Given the description of an element on the screen output the (x, y) to click on. 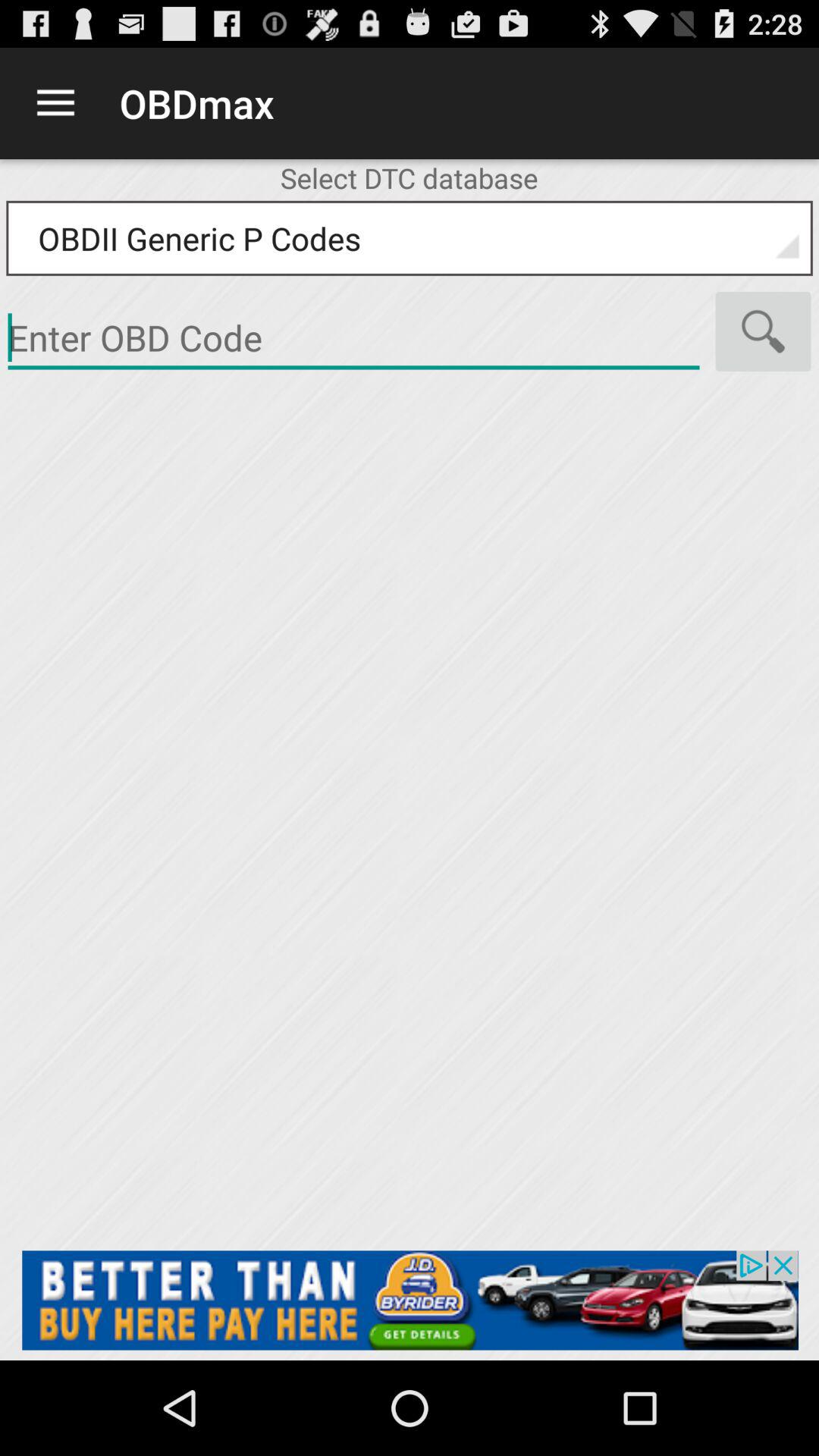
enter the obd code (409, 1300)
